Given the description of an element on the screen output the (x, y) to click on. 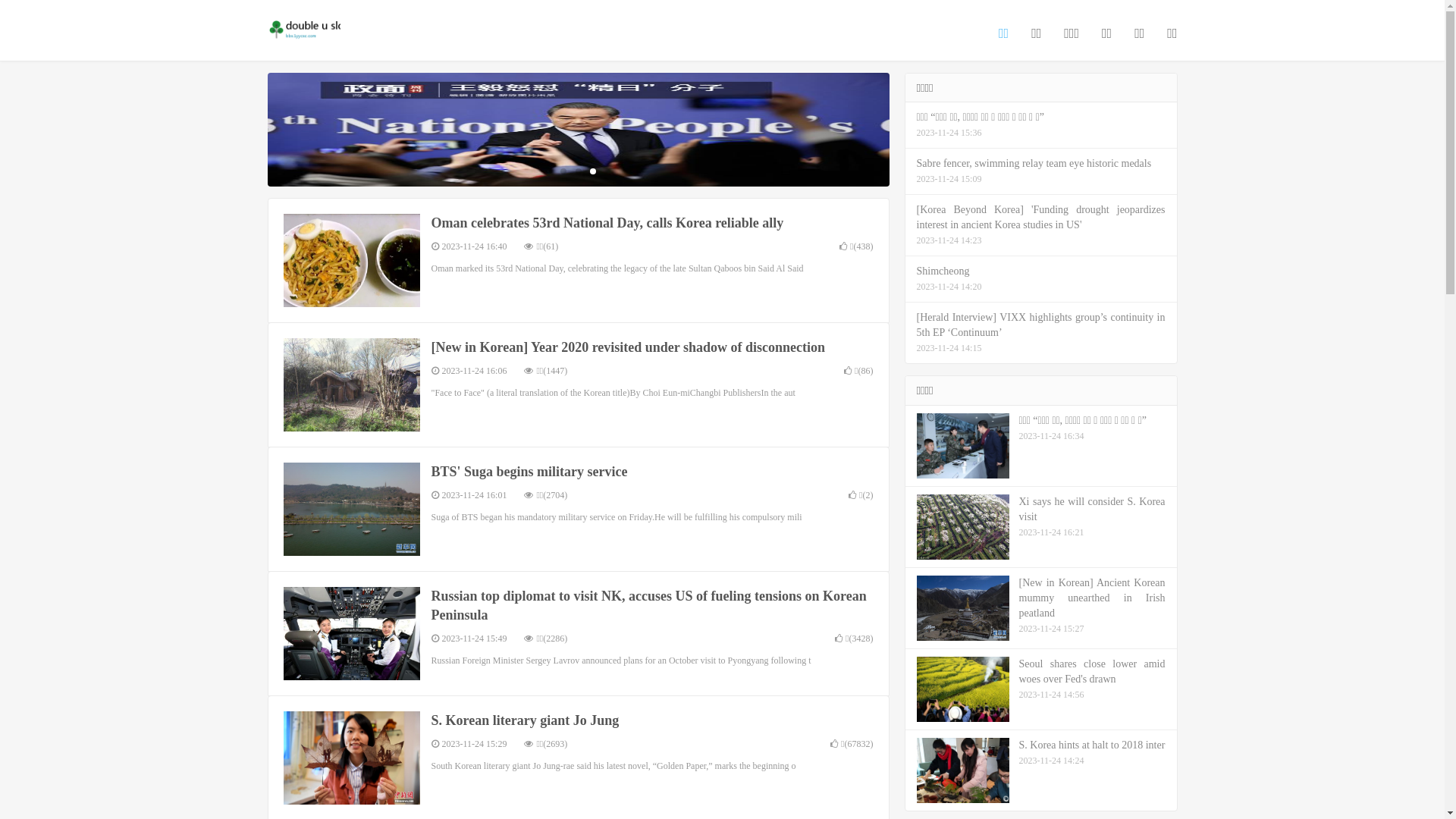
double u slot Element type: text (303, 30)
Shimcheong
2023-11-24 14:20 Element type: text (1040, 279)
S. Korean literary giant Jo Jung Element type: text (524, 720)
S. Korea hints at halt to 2018 inter
2023-11-24 14:24 Element type: text (1040, 770)
Oman celebrates 53rd National Day, calls Korea reliable ally Element type: text (606, 222)
BTS' Suga begins military service Element type: text (528, 471)
Xi says he will consider S. Korea visit
2023-11-24 16:21 Element type: text (1040, 526)
